Given the description of an element on the screen output the (x, y) to click on. 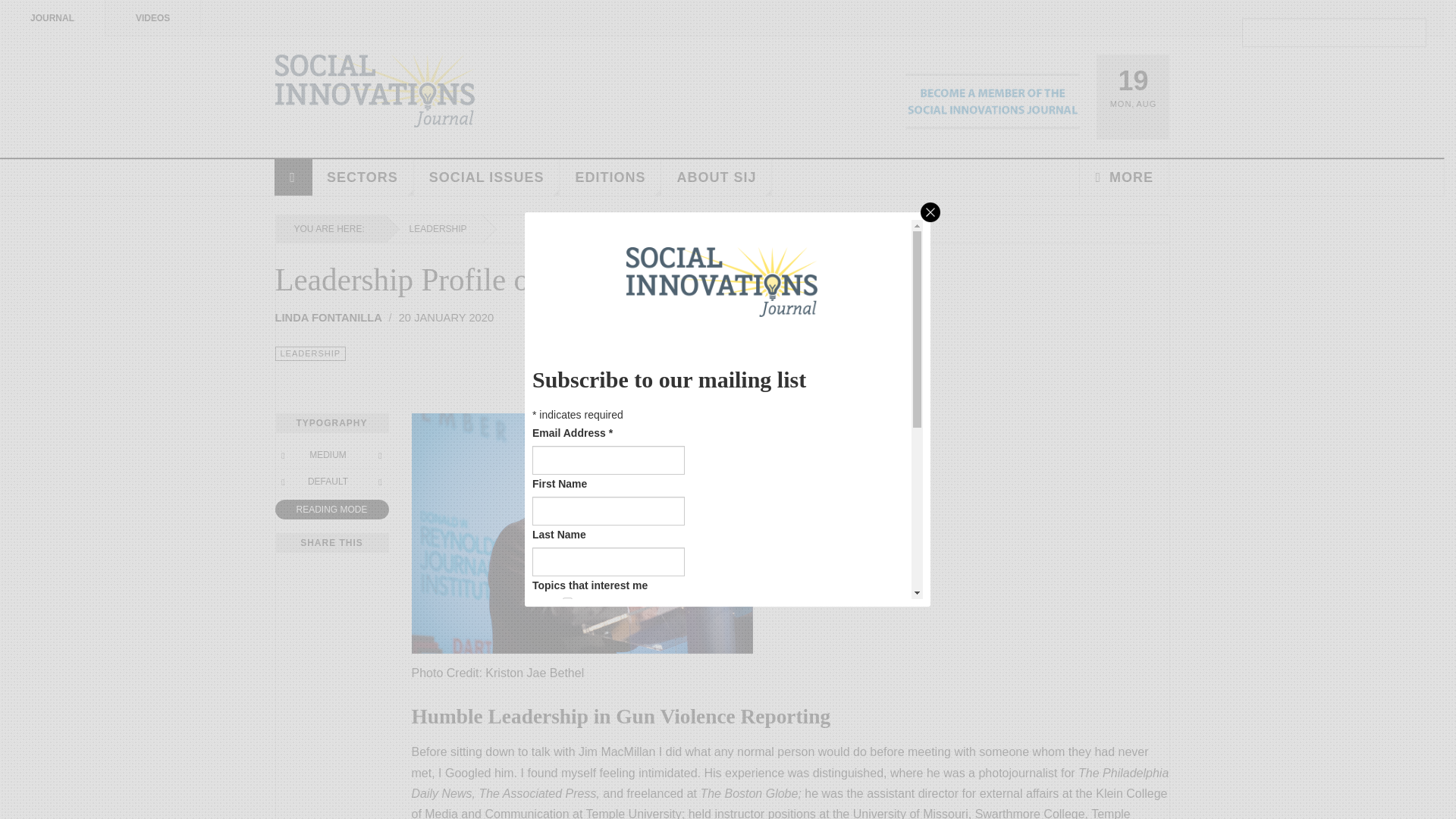
256 (567, 777)
2 (567, 624)
16 (567, 690)
64 (567, 734)
Social Innovation Journal (374, 90)
512 (567, 800)
8 (567, 668)
128 (567, 756)
4 (567, 646)
